Given the description of an element on the screen output the (x, y) to click on. 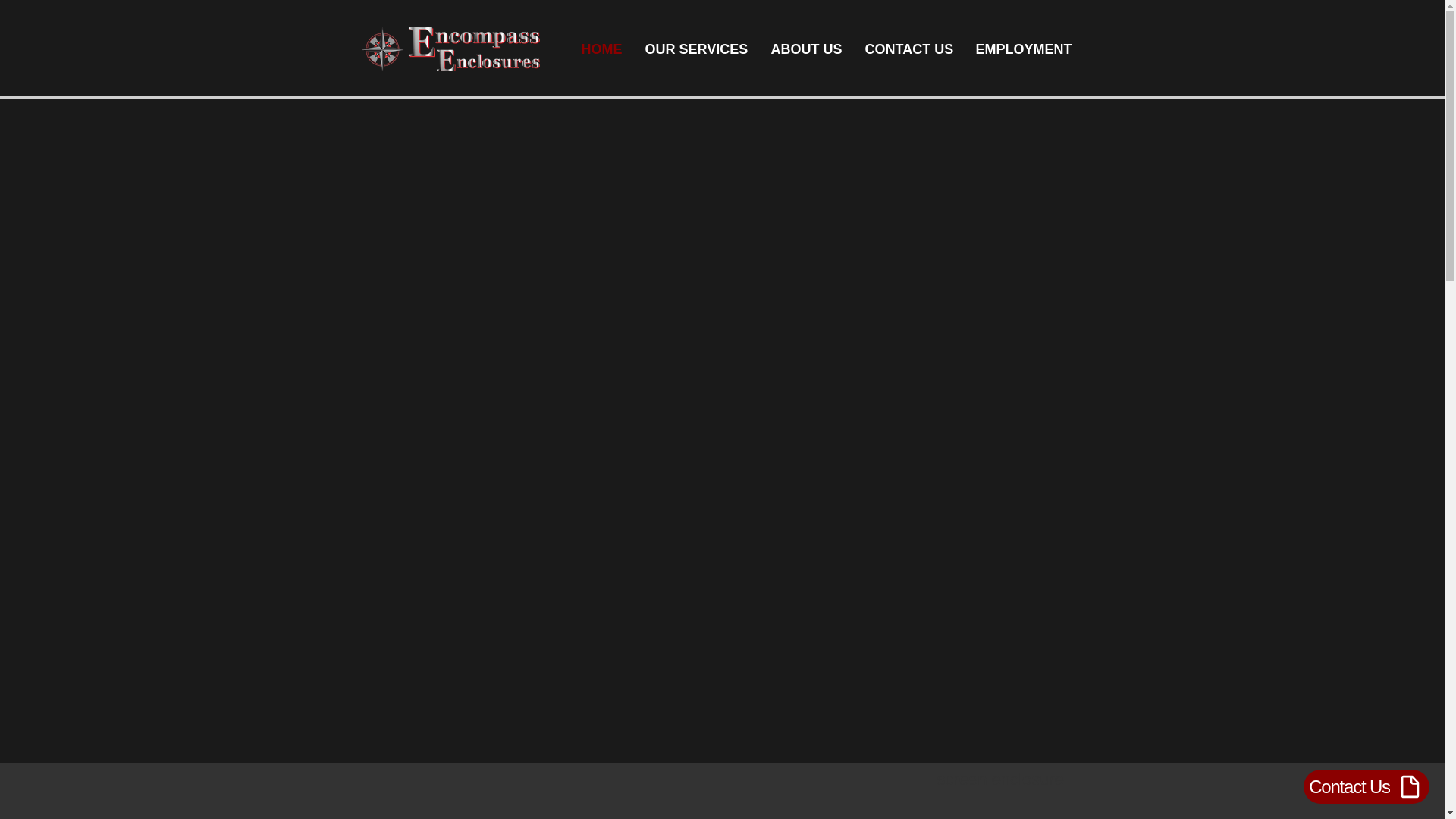
EMPLOYMENT (1022, 49)
OUR SERVICES (696, 49)
Contact Us (1366, 786)
HOME (601, 49)
CONTACT US (908, 49)
ABOUT US (806, 49)
